Given the description of an element on the screen output the (x, y) to click on. 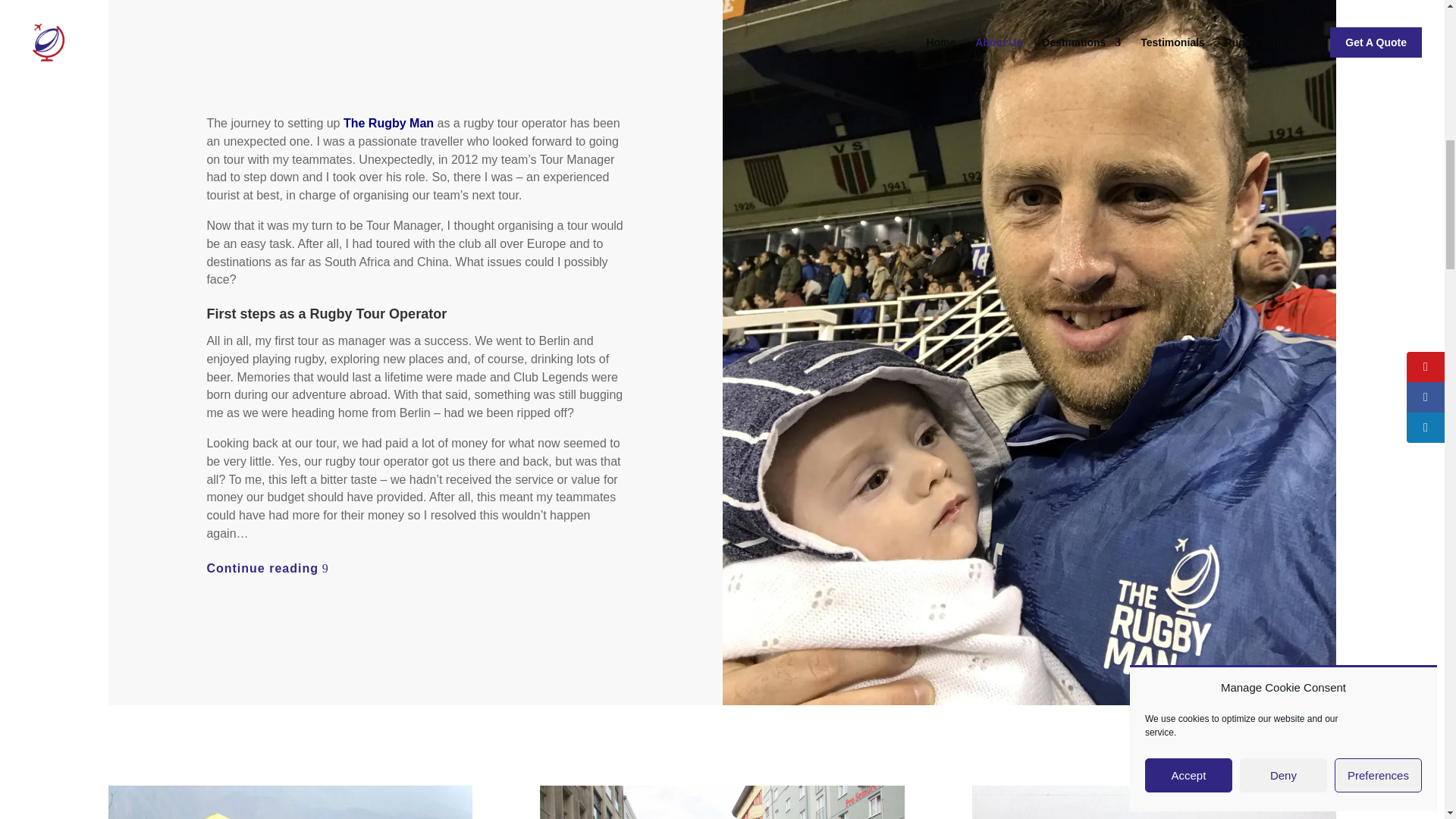
First-tour (289, 802)
second-tour (722, 802)
third-tour (1154, 802)
